Given the description of an element on the screen output the (x, y) to click on. 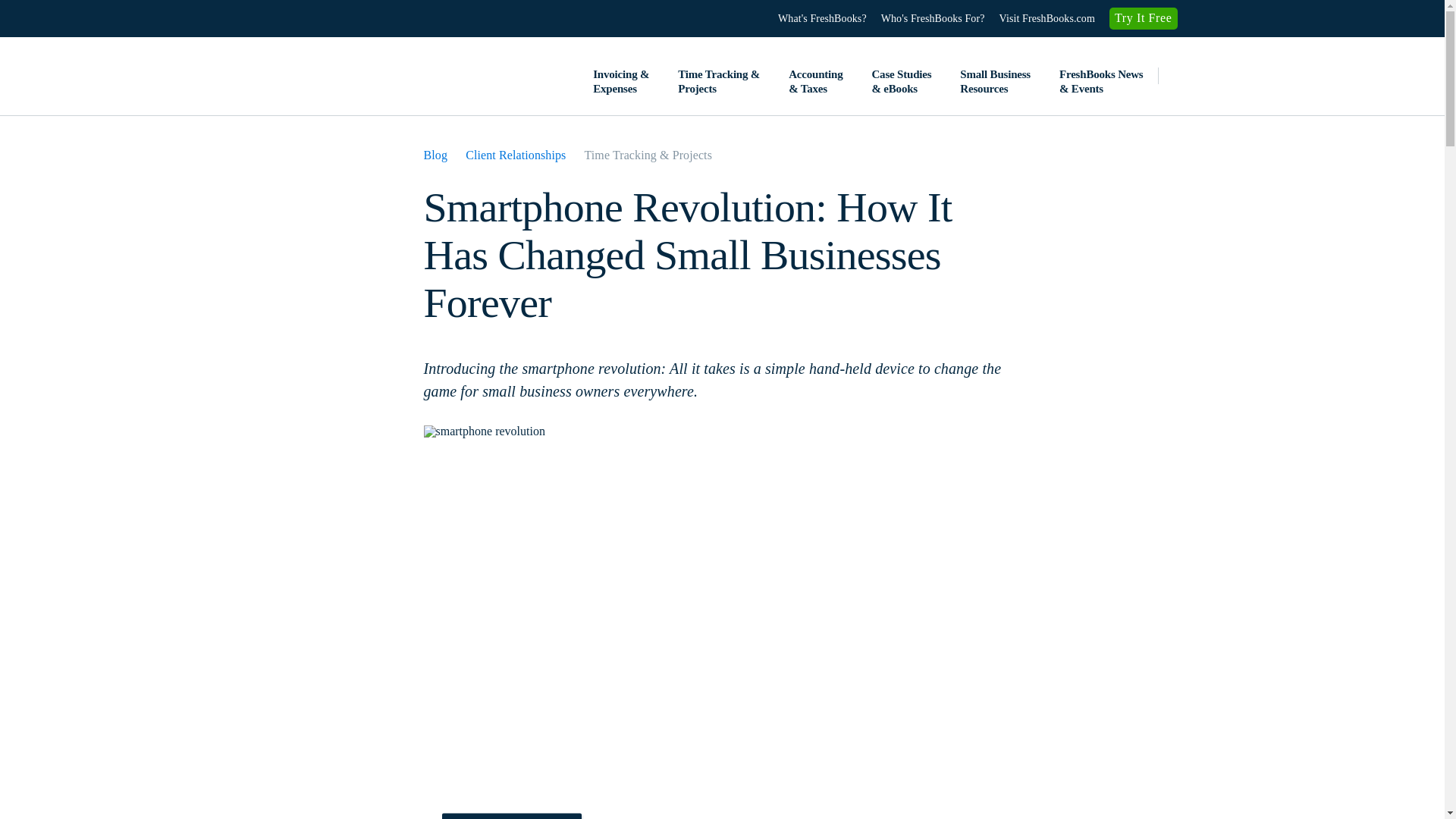
Try It Free (1143, 18)
Who's FreshBooks For? (932, 18)
Visit FreshBooks.com (1046, 18)
What's FreshBooks? (821, 18)
